Given the description of an element on the screen output the (x, y) to click on. 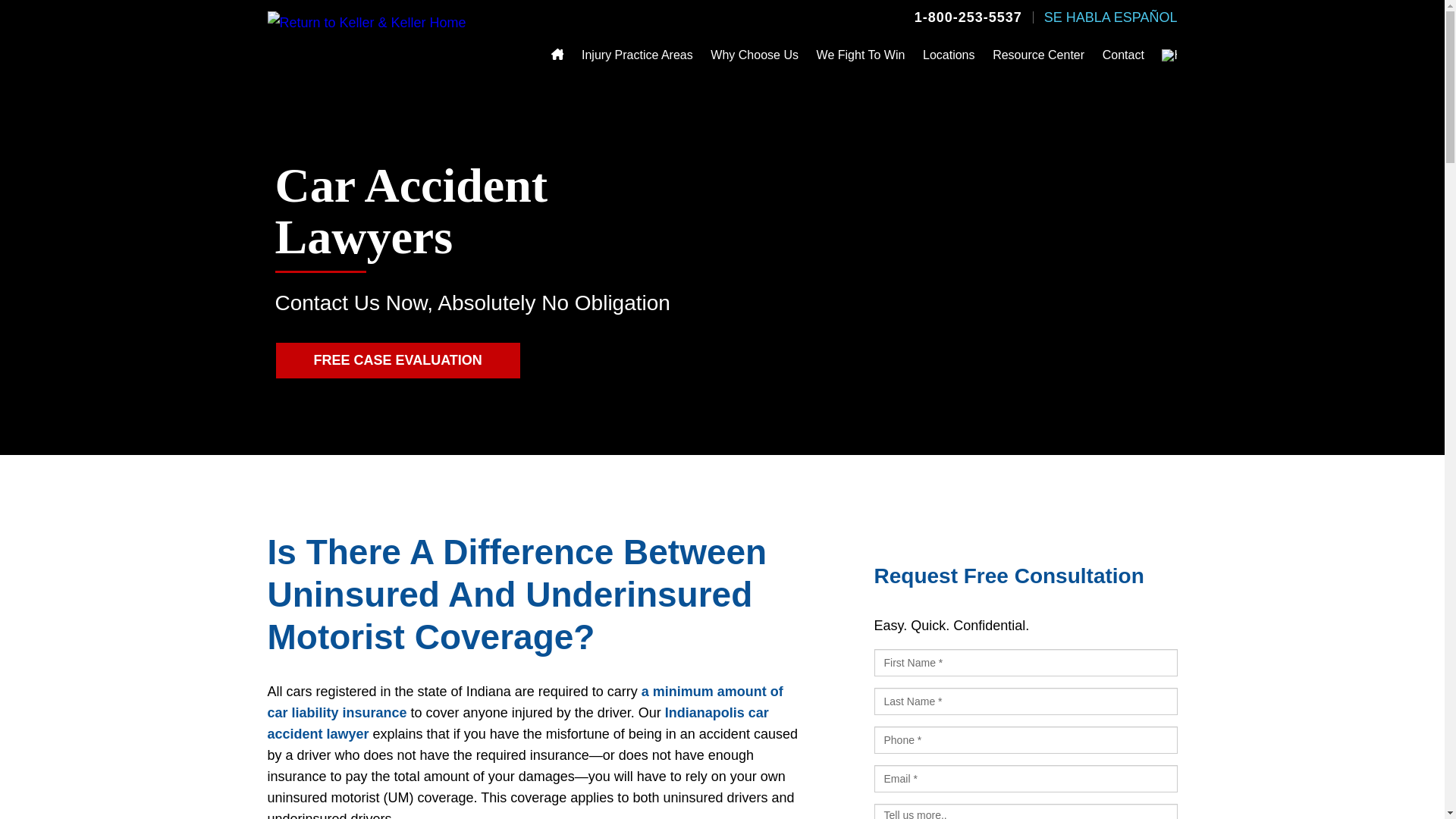
We Fight To Win (860, 55)
Why Choose Us (753, 55)
Locations (949, 55)
1-800-253-5537 (968, 17)
Injury Practice Areas (636, 55)
